Given the description of an element on the screen output the (x, y) to click on. 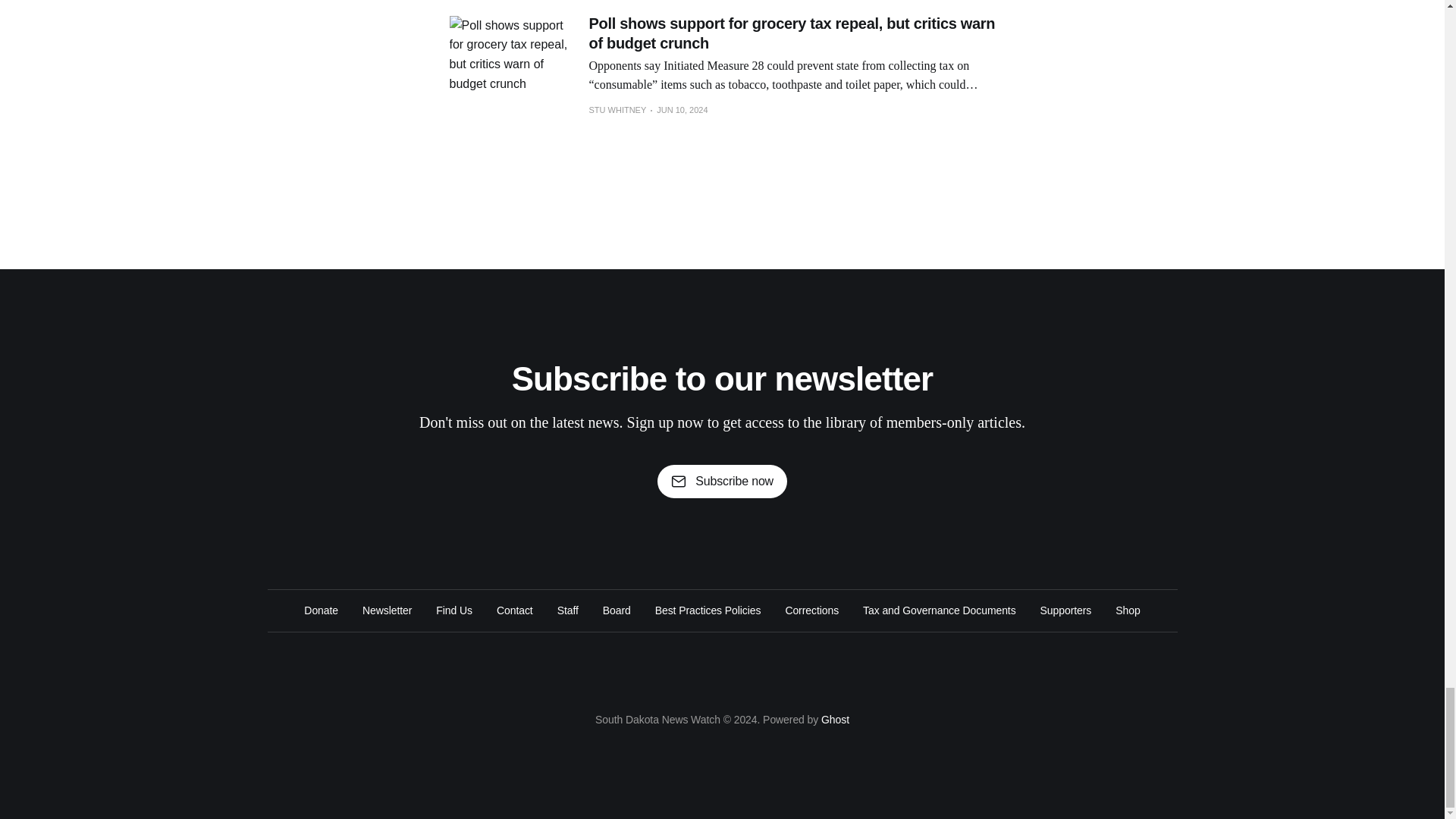
Find Us (453, 610)
Tax and Governance Documents (939, 610)
Newsletter (387, 610)
Subscribe now (722, 481)
Staff (567, 610)
Shop (1127, 610)
Contact (514, 610)
Best Practices Policies (708, 610)
Supporters (1066, 610)
Donate (320, 610)
Board (616, 610)
Ghost (834, 719)
Corrections (811, 610)
